Given the description of an element on the screen output the (x, y) to click on. 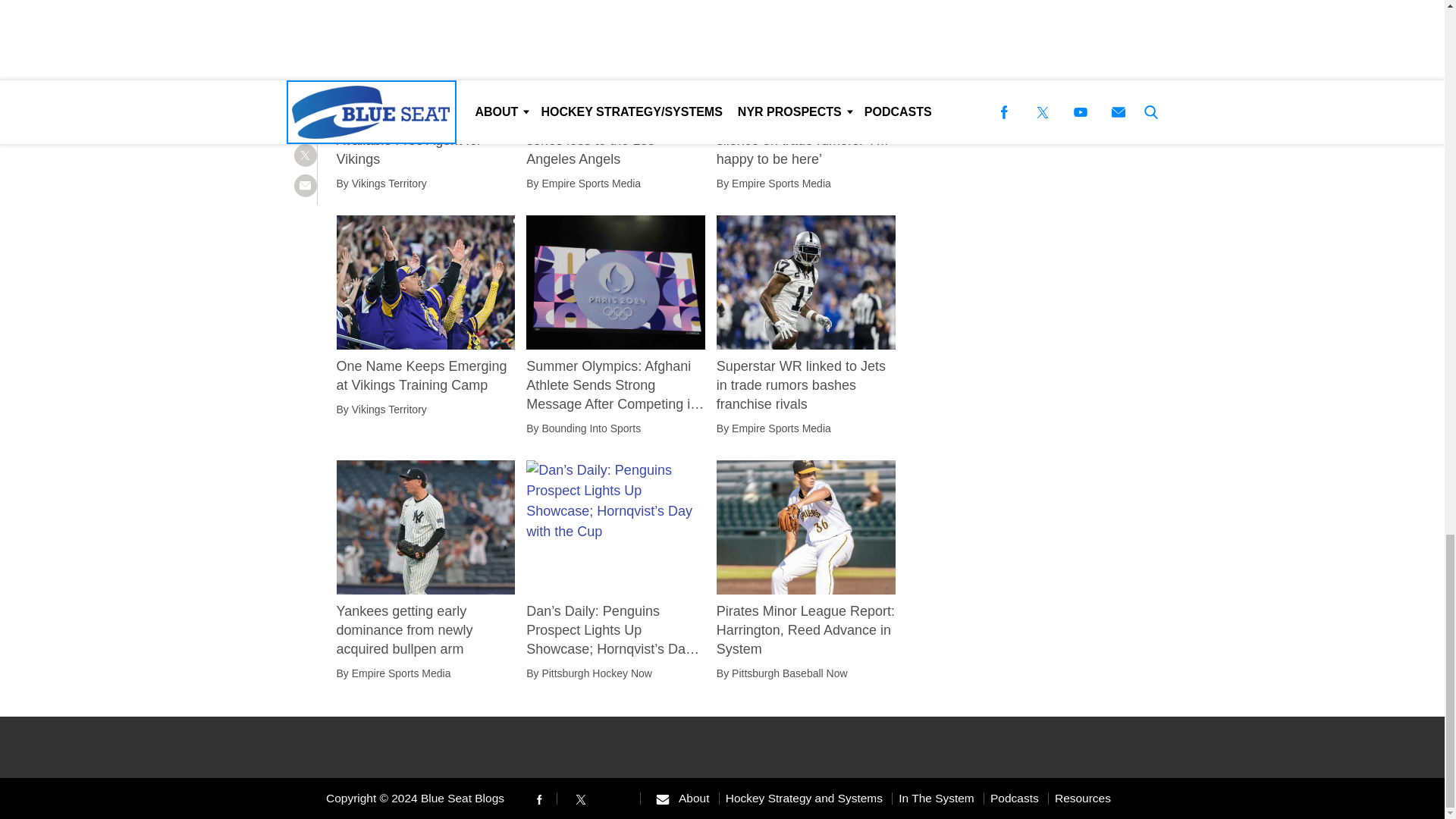
Twitter (580, 799)
Keep an Eye on Newly Available Free Agent for Vikings (425, 140)
Vikings Territory (389, 183)
Follow us on Facebook (539, 797)
Empire Sports Media (590, 183)
Envelope (662, 799)
Facebook (539, 799)
Send us an email (662, 797)
Follow us on Twitter (580, 797)
